Given the description of an element on the screen output the (x, y) to click on. 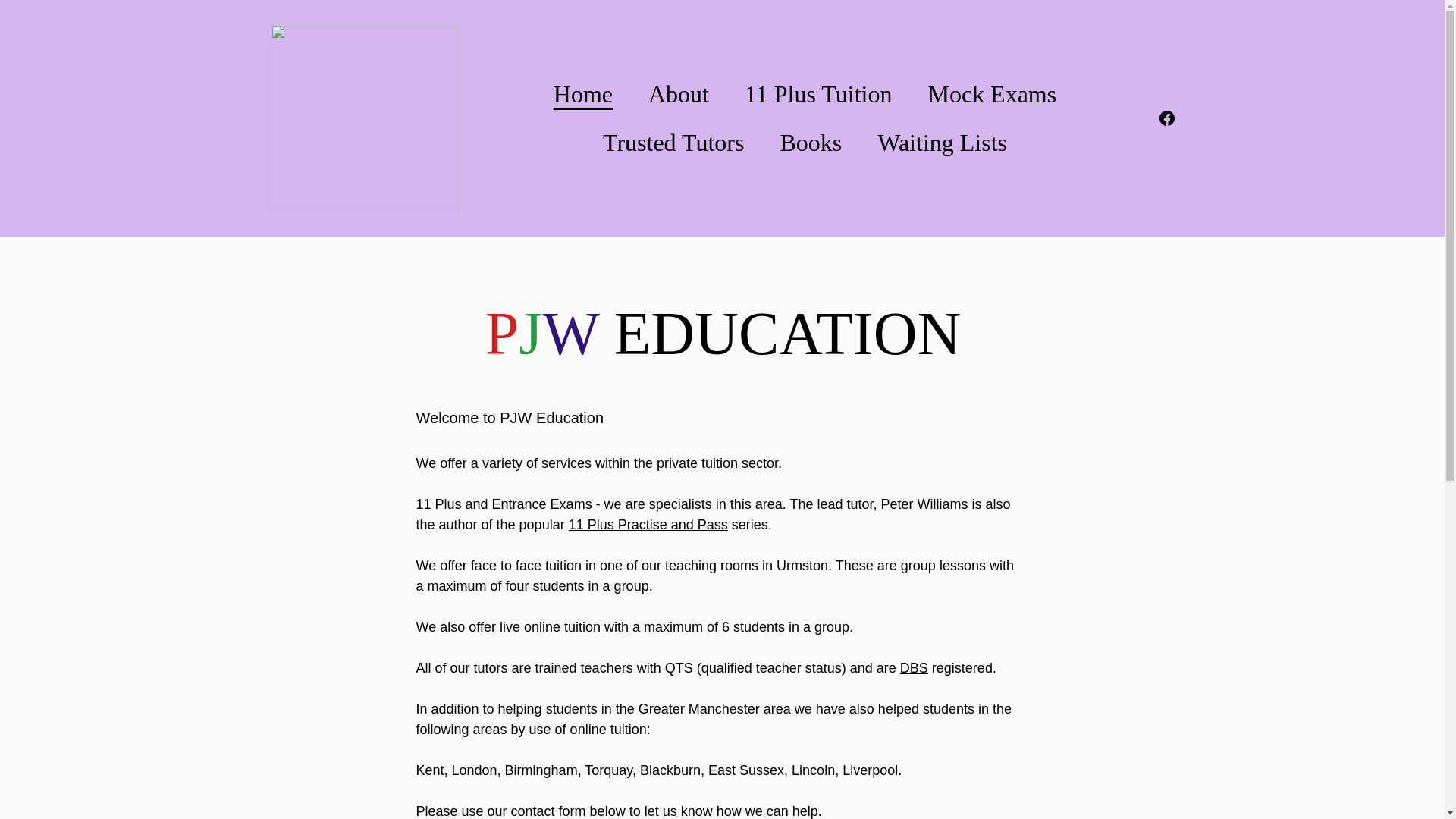
Trusted Tutors (673, 142)
11 Plus Tuition (817, 94)
Waiting Lists (942, 142)
DBS (913, 667)
About (678, 94)
Mock Exams (992, 94)
Home (582, 94)
Books (809, 142)
11 Plus Practise and Pass (648, 524)
